Given the description of an element on the screen output the (x, y) to click on. 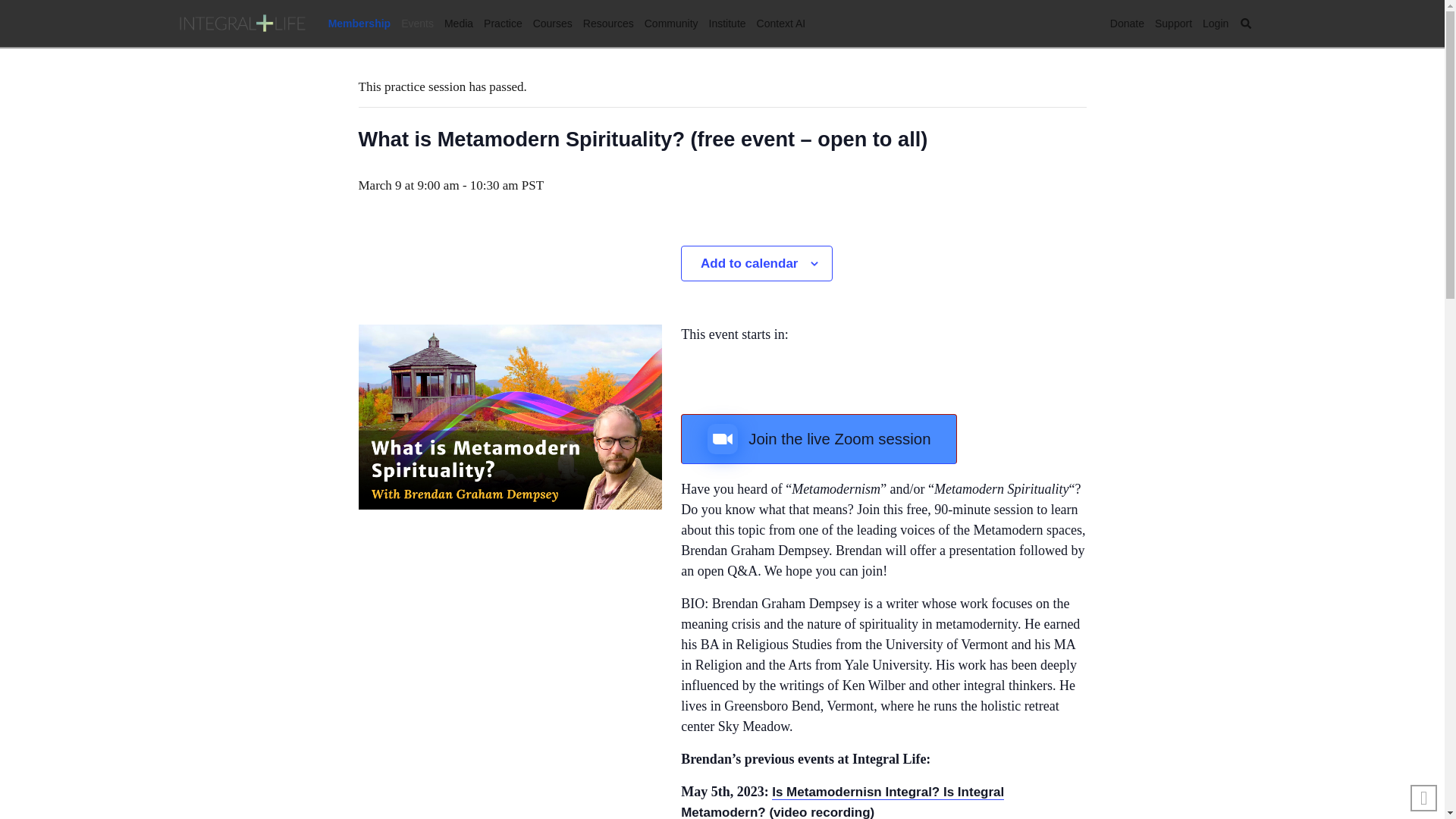
Media (459, 23)
Back to Top (1423, 797)
Membership (359, 23)
Events (417, 23)
